Given the description of an element on the screen output the (x, y) to click on. 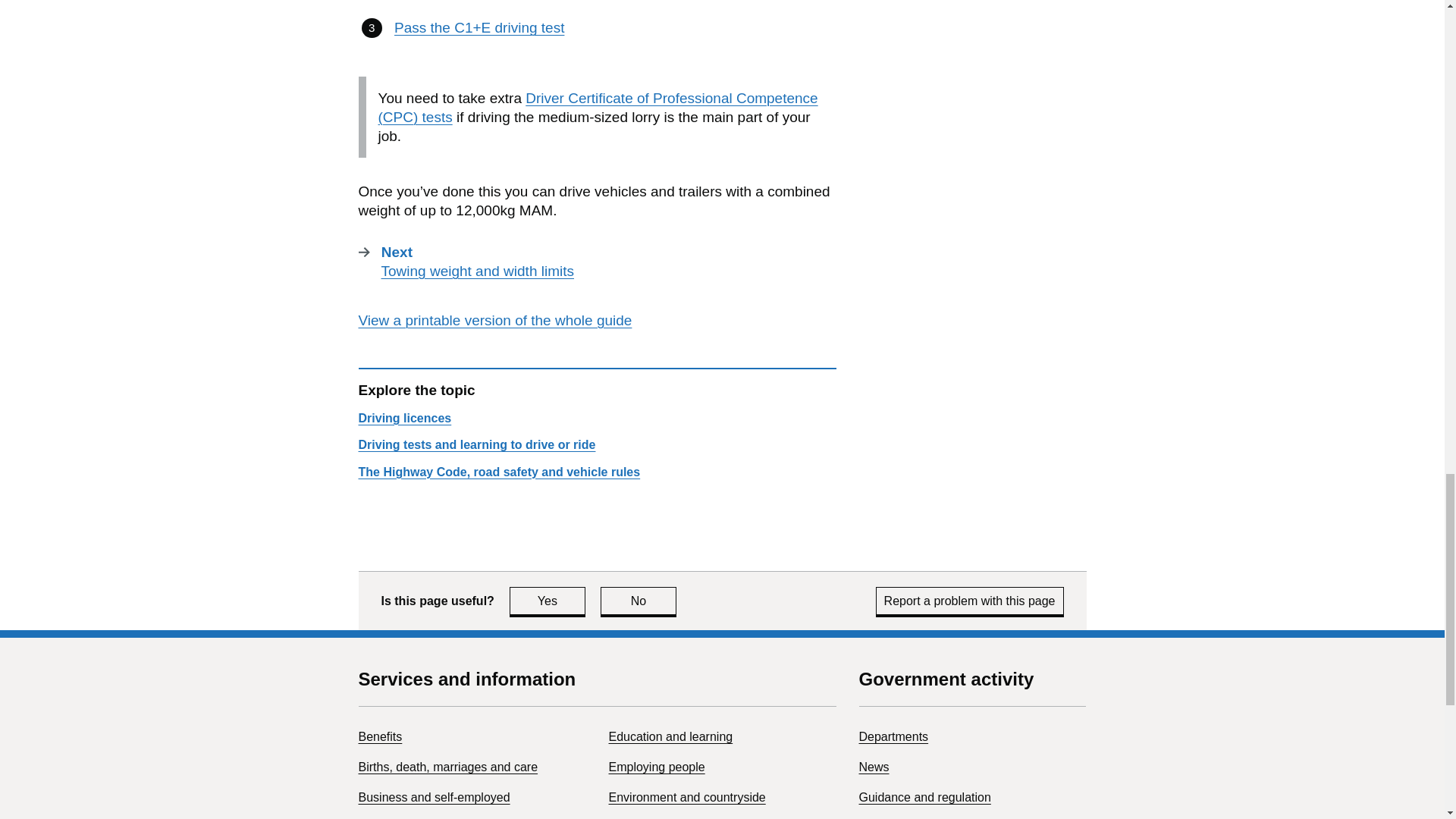
Driving licences (404, 418)
The Highway Code, road safety and vehicle rules (499, 472)
Births, death, marriages and care (447, 766)
Report a problem with this page (970, 601)
Business and self-employed (547, 601)
Benefits (433, 797)
View a printable version of the whole guide (638, 601)
maximum authorised mass (379, 736)
Driving tests and learning to drive or ride (494, 320)
